Given the description of an element on the screen output the (x, y) to click on. 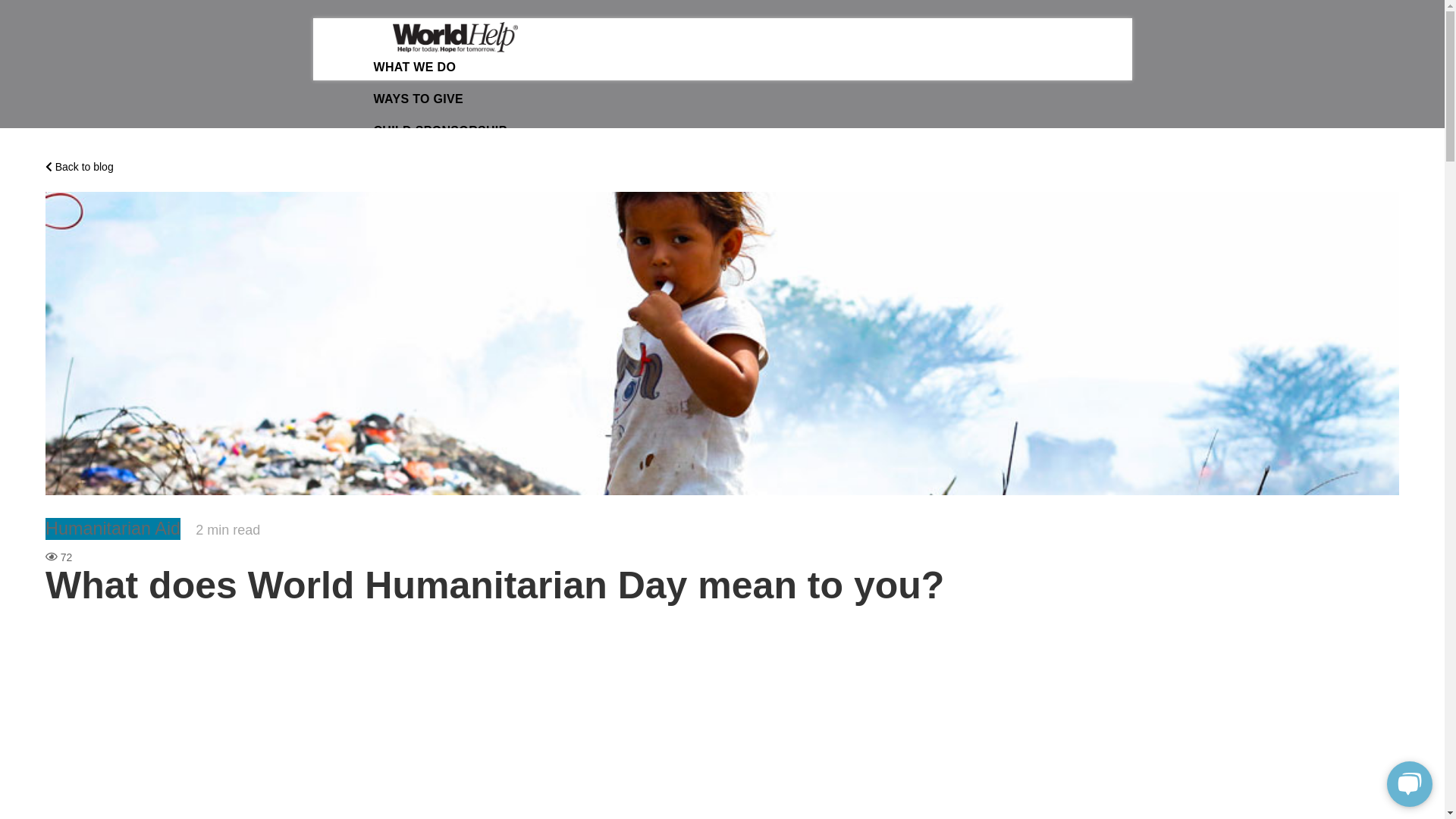
WAYS TO GIVE (417, 98)
Sign in to your account (442, 180)
WHAT WE DO (413, 66)
